Given the description of an element on the screen output the (x, y) to click on. 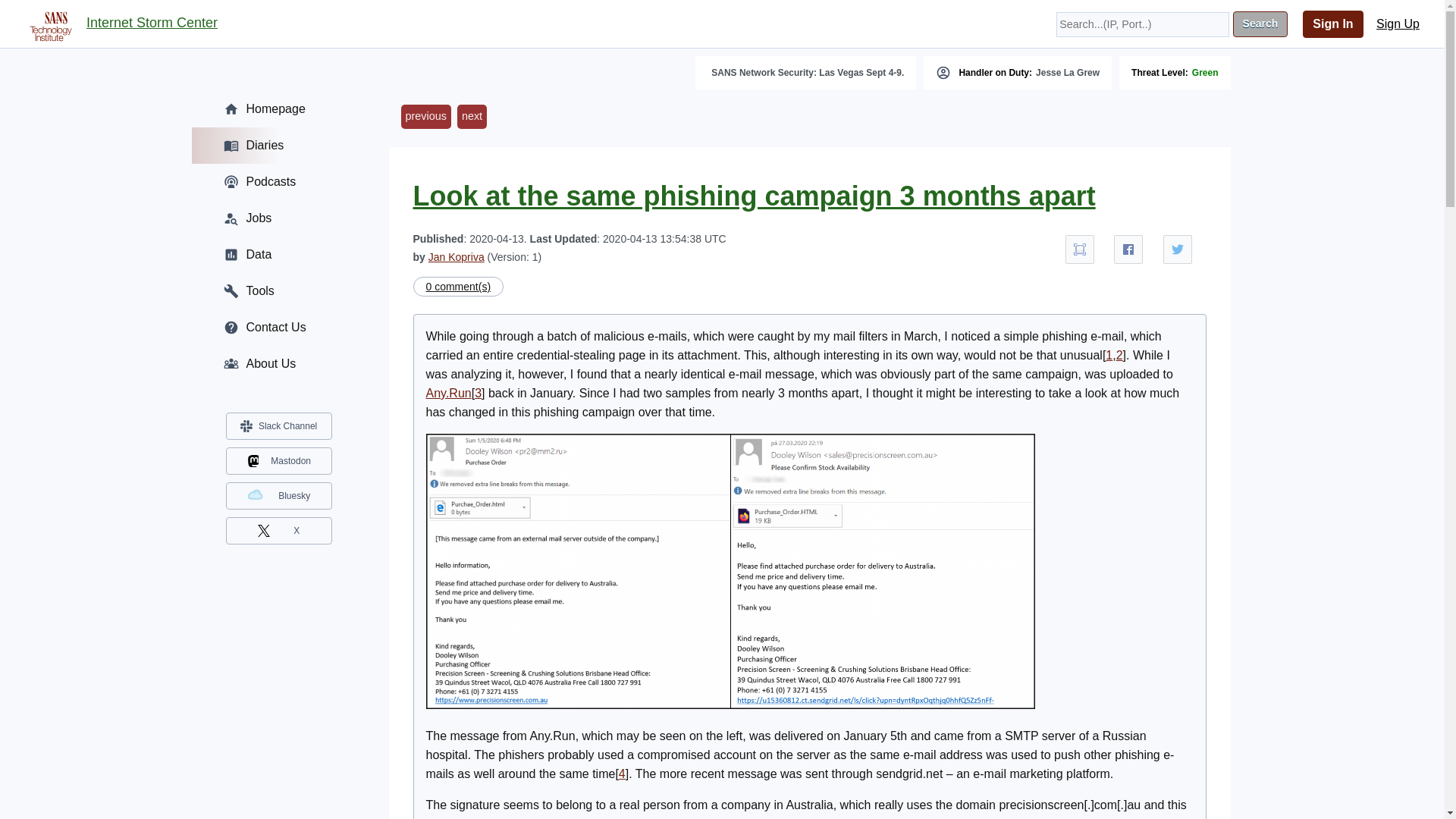
Look at the same phishing campaign 3 months apart (753, 195)
Homepage (277, 108)
next (471, 116)
Share on Facebook (1127, 249)
previous (424, 116)
Sign Up (1398, 24)
Green (1205, 72)
Full Screen (1079, 249)
Search (1260, 23)
Jan Kopriva (456, 256)
